Given the description of an element on the screen output the (x, y) to click on. 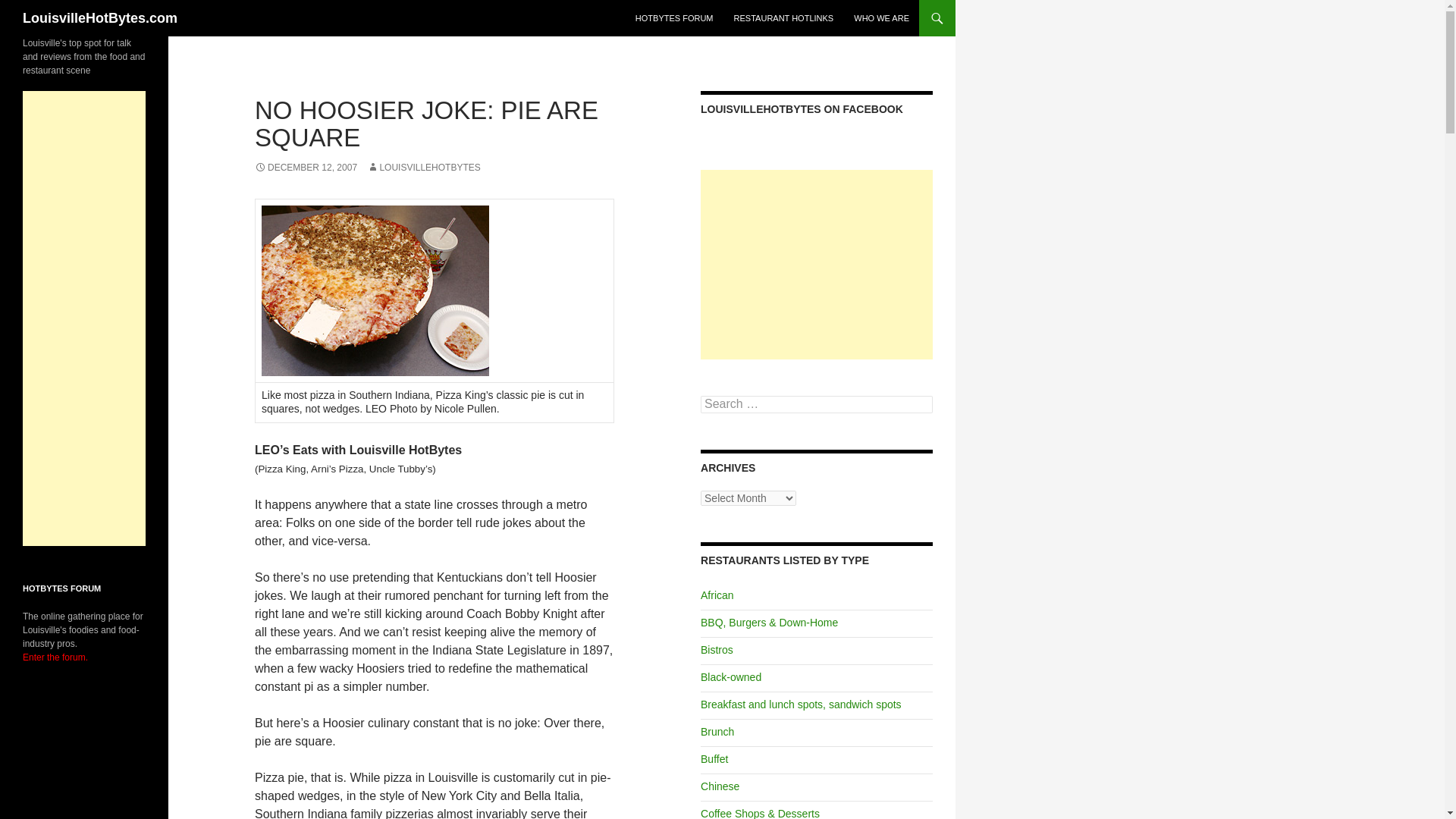
Advertisement (816, 264)
DECEMBER 12, 2007 (305, 167)
HOTBYTES FORUM (674, 18)
Chinese (719, 786)
RESTAURANT HOTLINKS (784, 18)
Black-owned (730, 676)
Bistros (716, 649)
Search (30, 8)
Brunch (716, 731)
LouisvilleHotBytes.com (100, 18)
LOUISVILLEHOTBYTES (423, 167)
WHO WE ARE (881, 18)
Buffet (714, 758)
African (716, 594)
Breakfast and lunch spots, sandwich spots (800, 704)
